Given the description of an element on the screen output the (x, y) to click on. 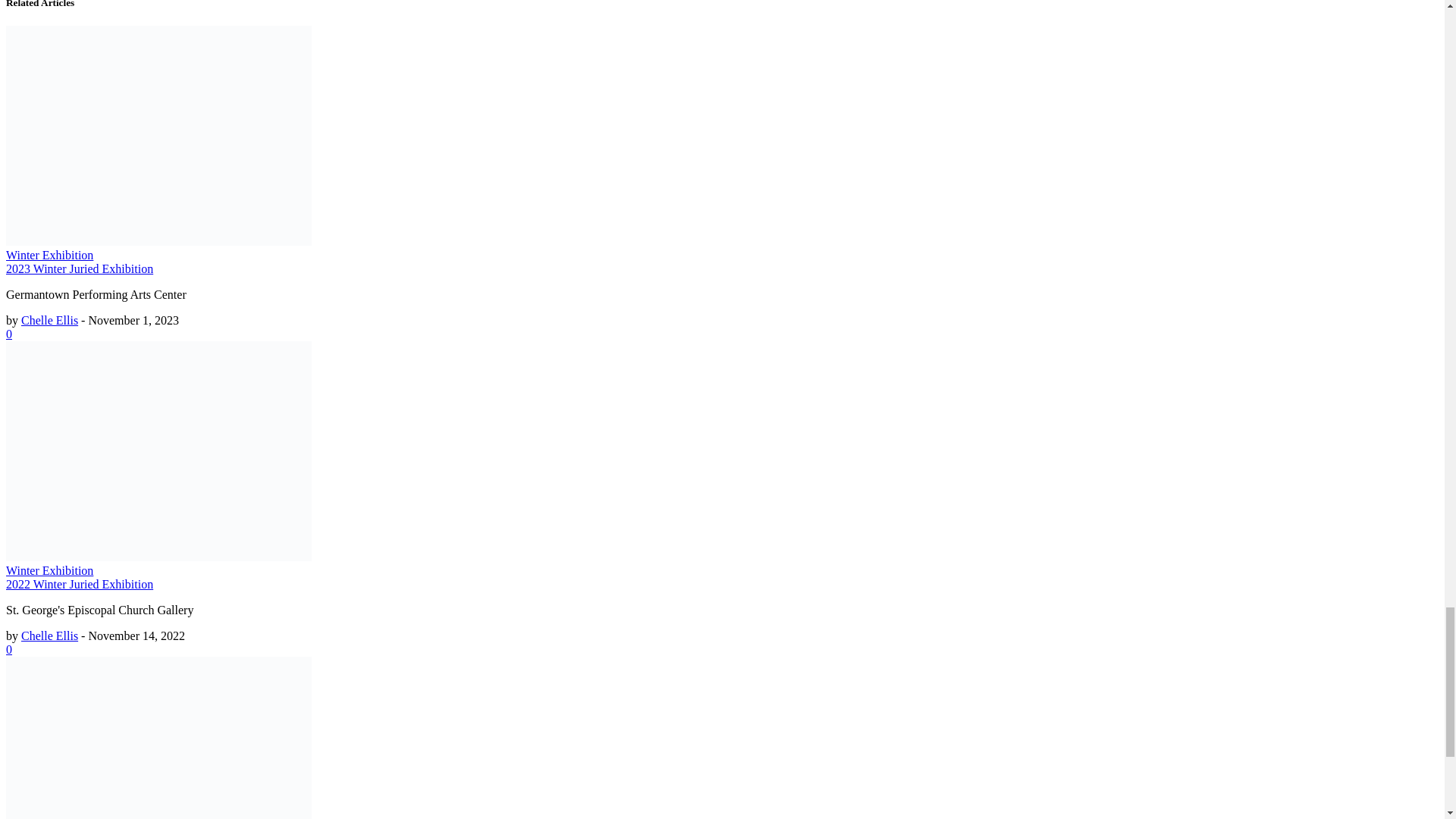
All posts from Winter Exhibition (49, 570)
All posts from Winter Exhibition (49, 254)
